Given the description of an element on the screen output the (x, y) to click on. 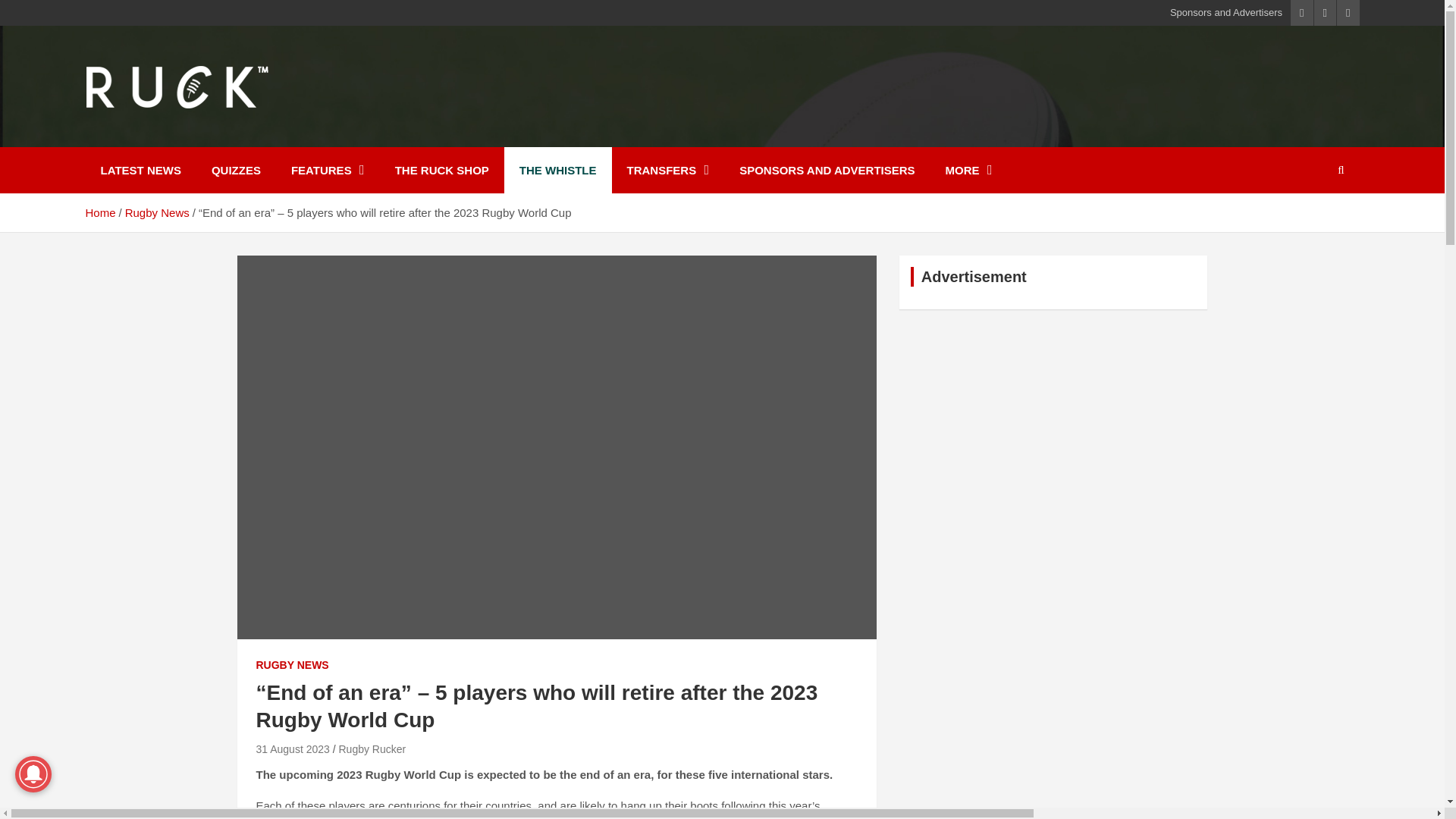
MORE (968, 170)
THE WHISTLE (557, 170)
Home (99, 212)
Ruck (121, 136)
Rugby News (157, 212)
QUIZZES (236, 170)
SPONSORS AND ADVERTISERS (826, 170)
THE RUCK SHOP (441, 170)
FEATURES (328, 170)
RUGBY NEWS (292, 665)
LATEST NEWS (139, 170)
31 August 2023 (293, 748)
Rugby Rucker (371, 748)
Sponsors and Advertisers (1226, 12)
TRANSFERS (667, 170)
